Given the description of an element on the screen output the (x, y) to click on. 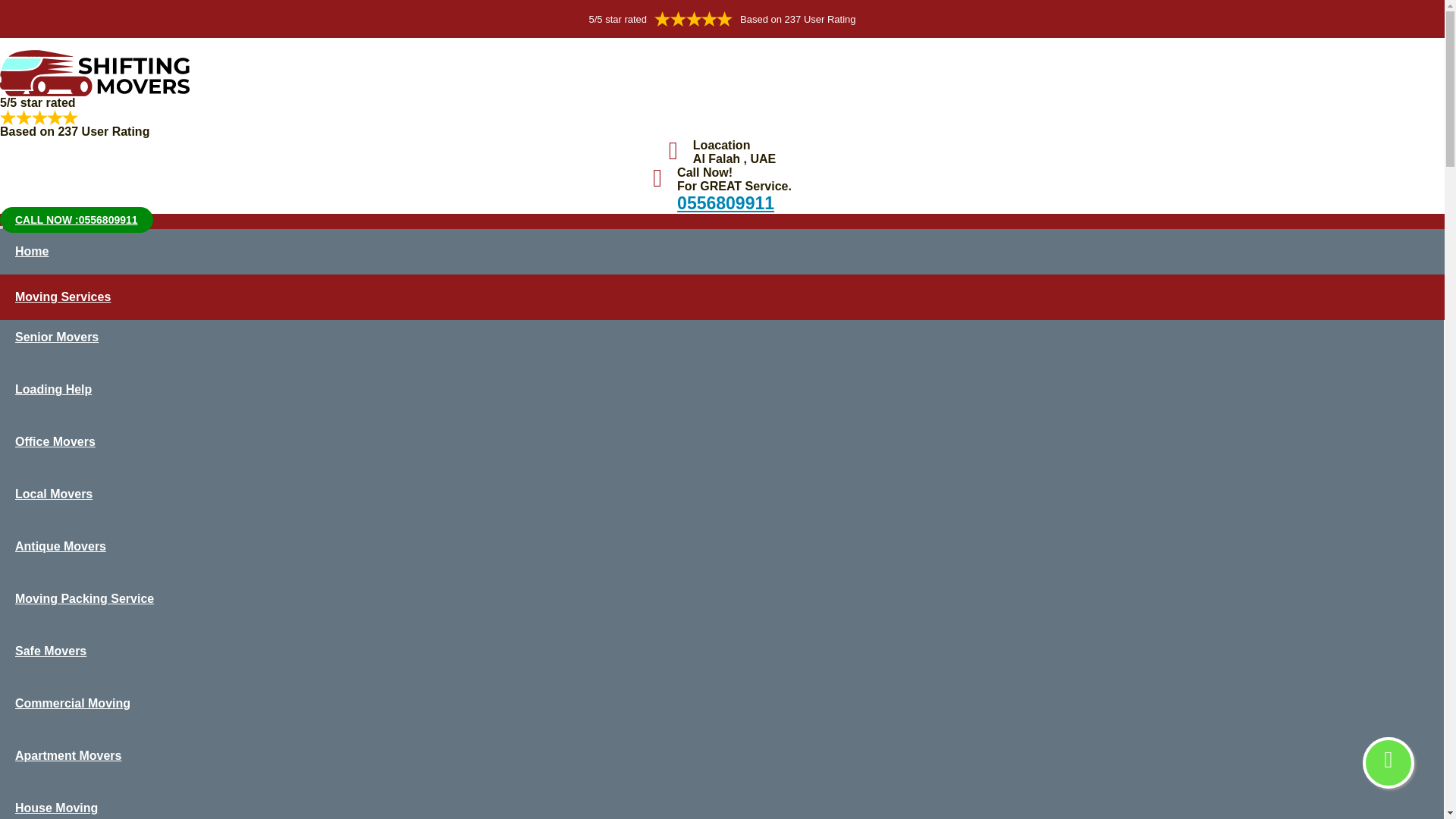
CALL NOW :0556809911 (76, 219)
House Moving (722, 805)
Commercial Moving (722, 712)
0556809911 (725, 202)
Home (17, 595)
Loading Help (722, 398)
GET FREE QUOTE (261, 347)
Antique Movers (722, 555)
Local Movers (722, 502)
Al Falah (58, 595)
Apartment Movers (722, 764)
Office Movers (722, 450)
Moving Packing Service (722, 607)
Residential Storage Units (146, 595)
Senior Movers (722, 346)
